Given the description of an element on the screen output the (x, y) to click on. 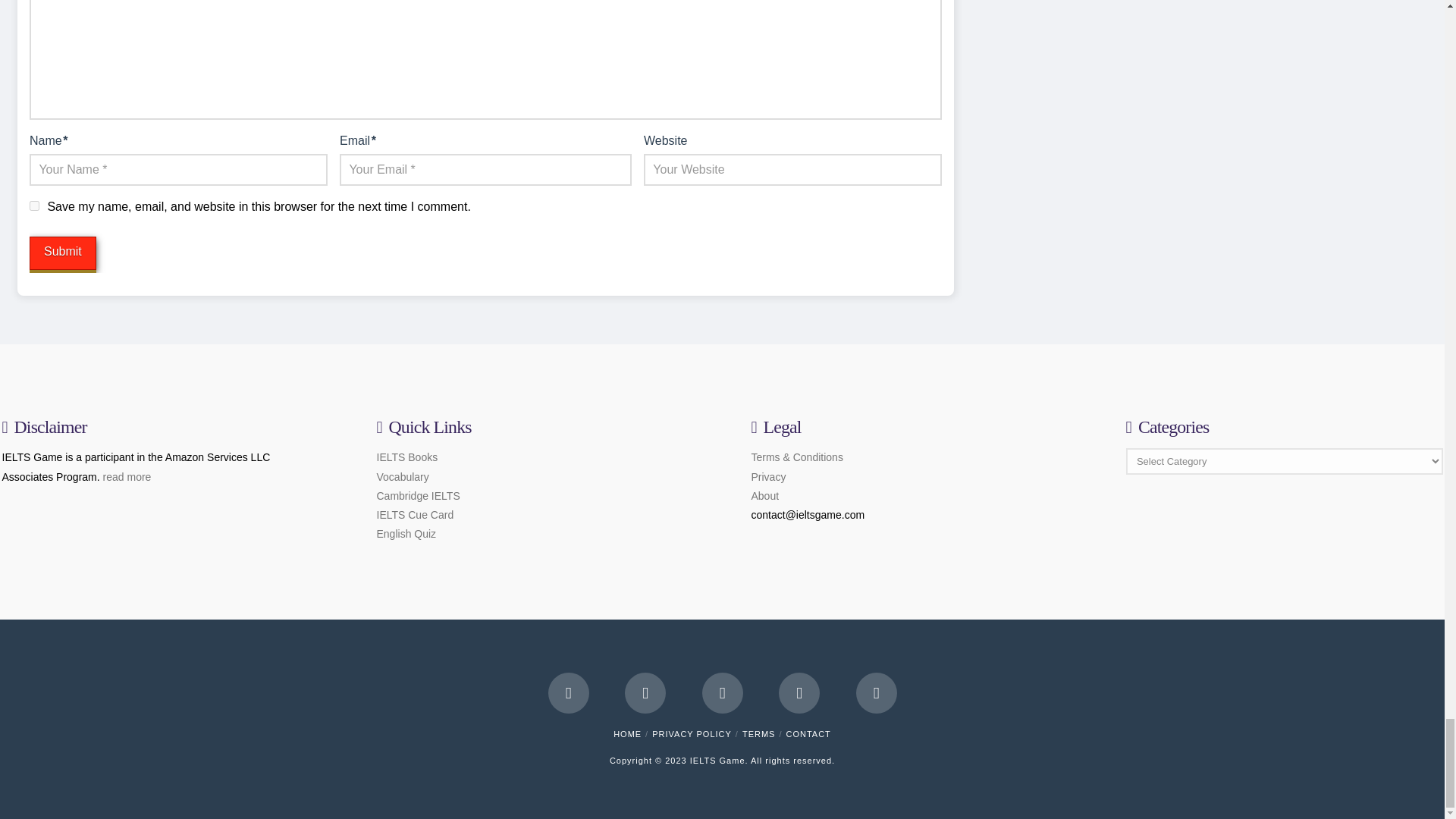
yes (34, 205)
Submit (62, 253)
